Given the description of an element on the screen output the (x, y) to click on. 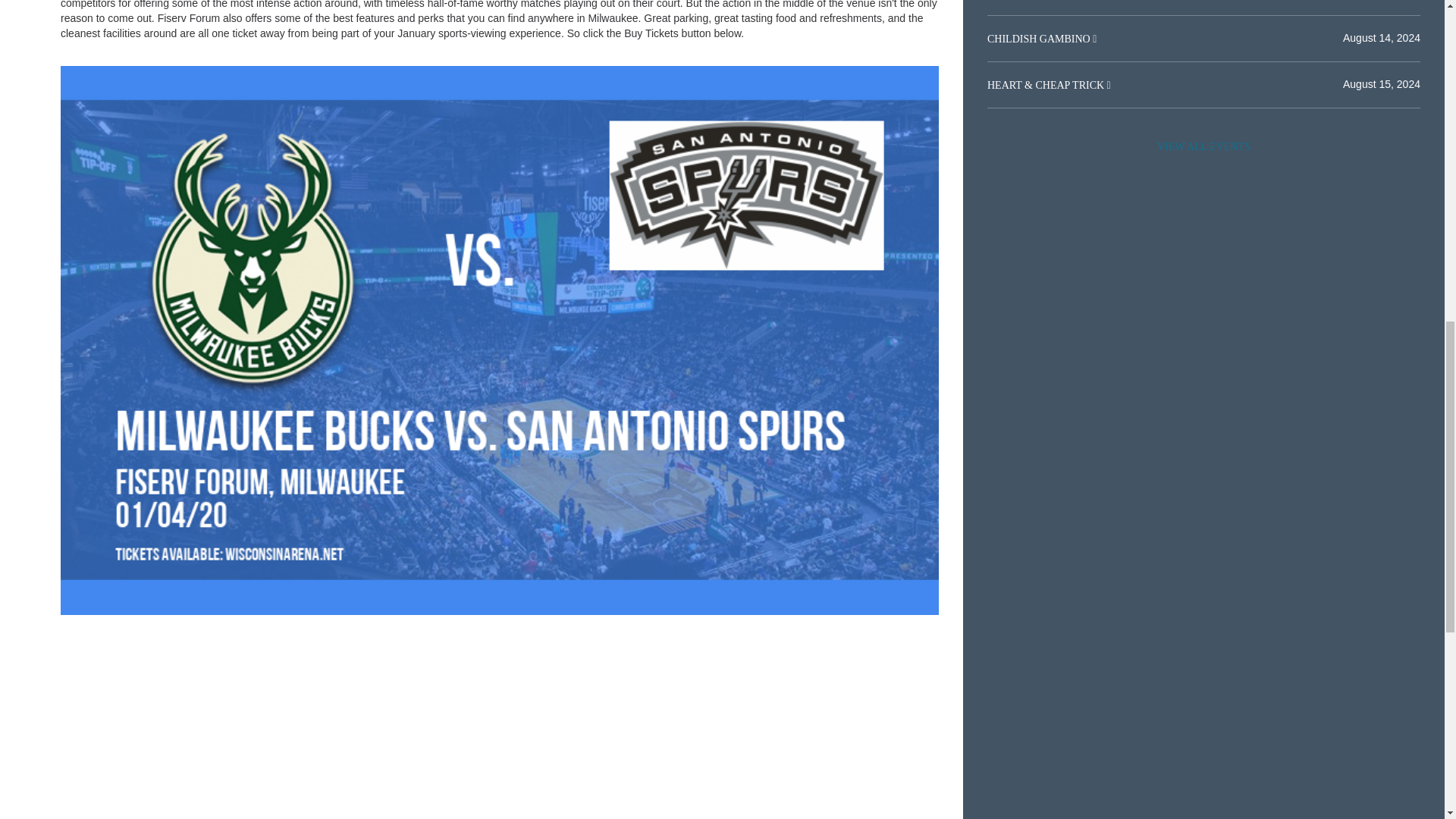
VIEW ALL EVENTS (1203, 146)
